Given the description of an element on the screen output the (x, y) to click on. 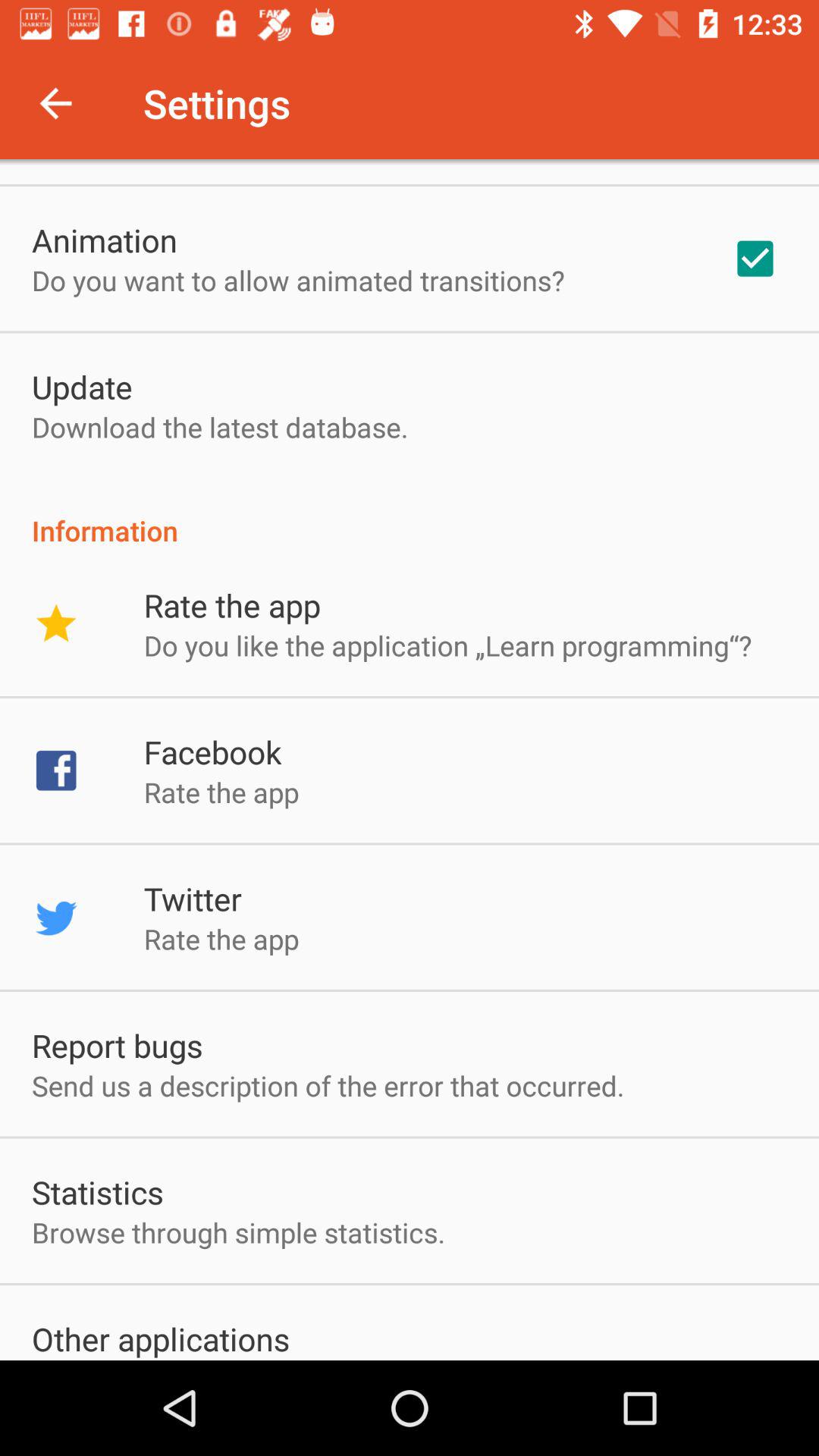
click app above other applications (238, 1232)
